Given the description of an element on the screen output the (x, y) to click on. 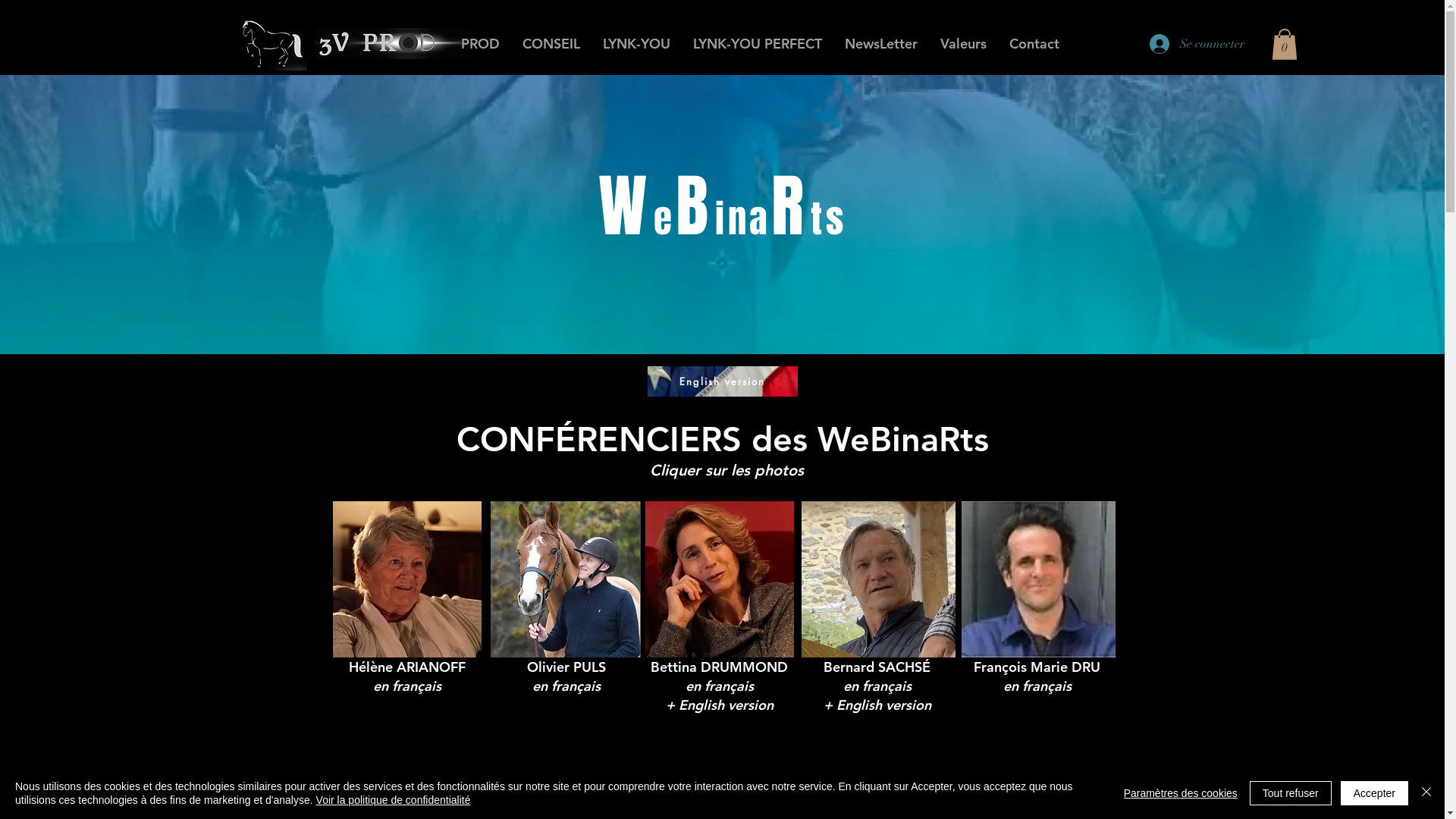
PROD Element type: text (479, 43)
CONSEIL Element type: text (551, 43)
NewsLetter Element type: text (880, 43)
Hand drawn envelope Element type: hover (271, 43)
Valeurs Element type: text (962, 43)
Accepter Element type: text (1374, 793)
Contact Element type: text (1033, 43)
LYNK-YOU Element type: text (636, 43)
Tout refuser Element type: text (1290, 793)
Se connecter Element type: text (1197, 43)
0 Element type: text (1283, 43)
English version Element type: text (722, 381)
LYNK-YOU PERFECT Element type: text (756, 43)
Hand drawn envelope Element type: hover (390, 43)
